Given the description of an element on the screen output the (x, y) to click on. 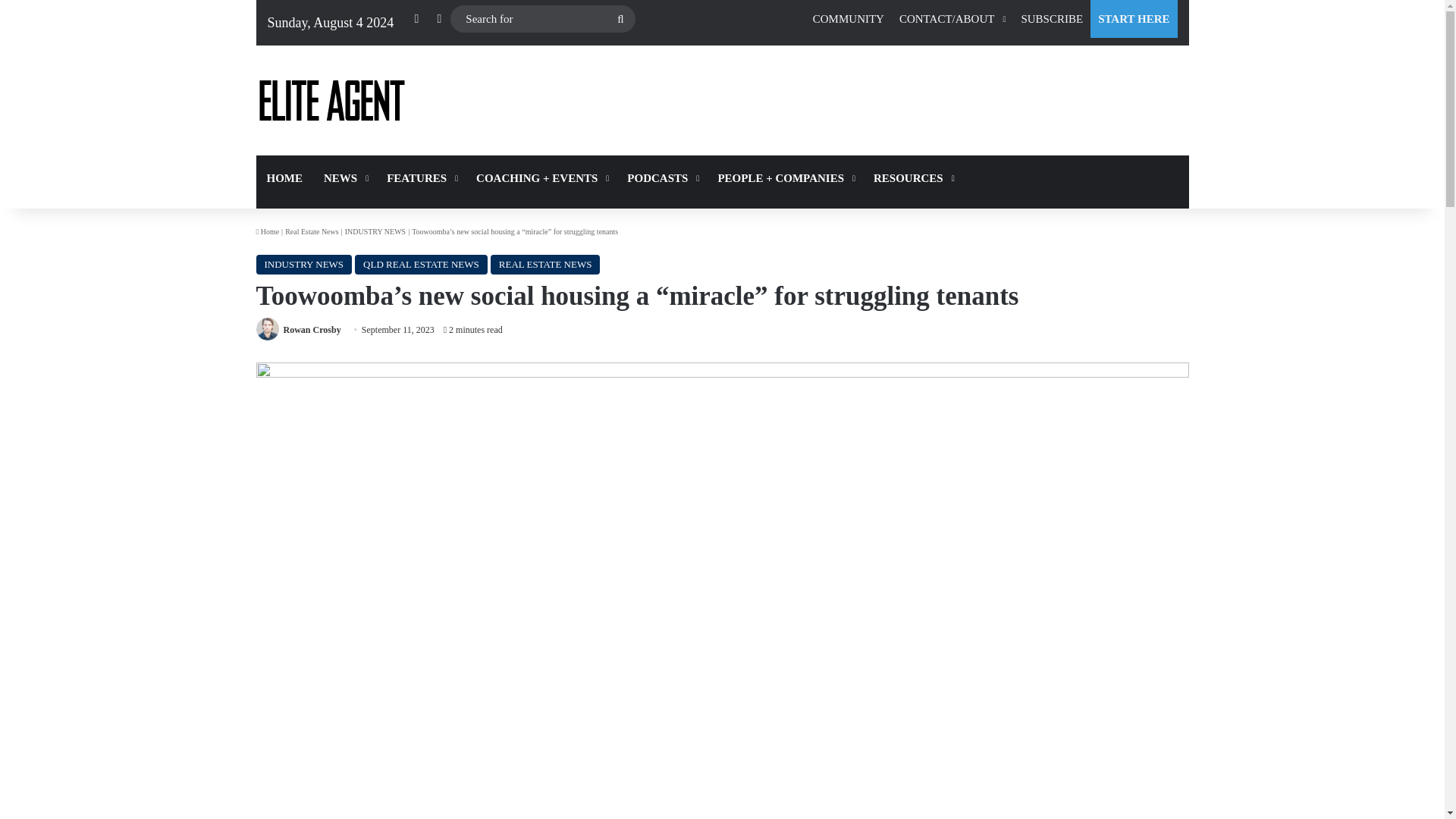
HOME (285, 177)
SUBSCRIBE (1051, 18)
NEWS (344, 177)
FEATURES (420, 177)
START HERE (1133, 18)
Rowan Crosby (311, 329)
Elite Agent (331, 100)
COMMUNITY (848, 18)
Search for (541, 18)
